Given the description of an element on the screen output the (x, y) to click on. 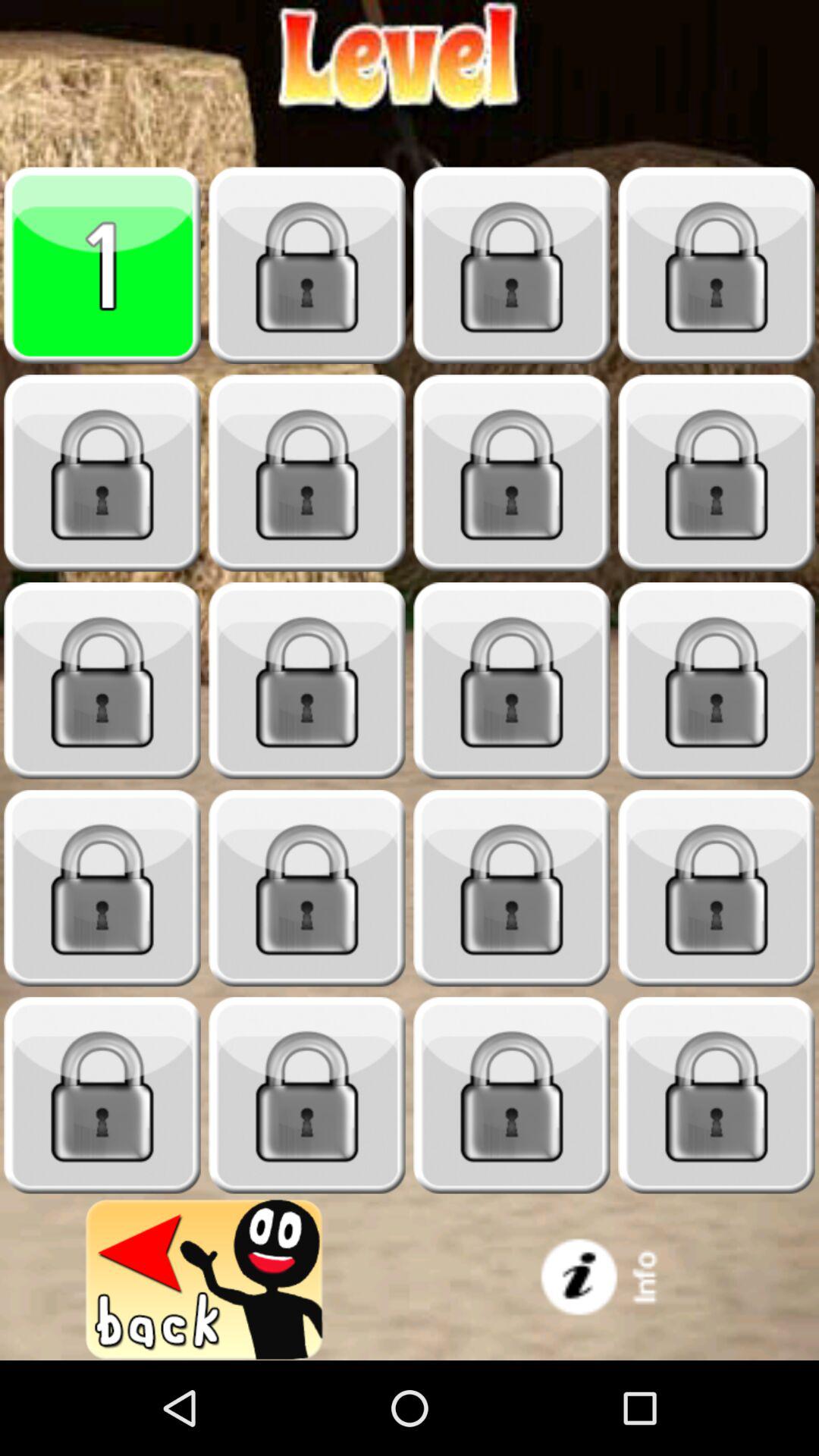
lock the button (716, 887)
